Given the description of an element on the screen output the (x, y) to click on. 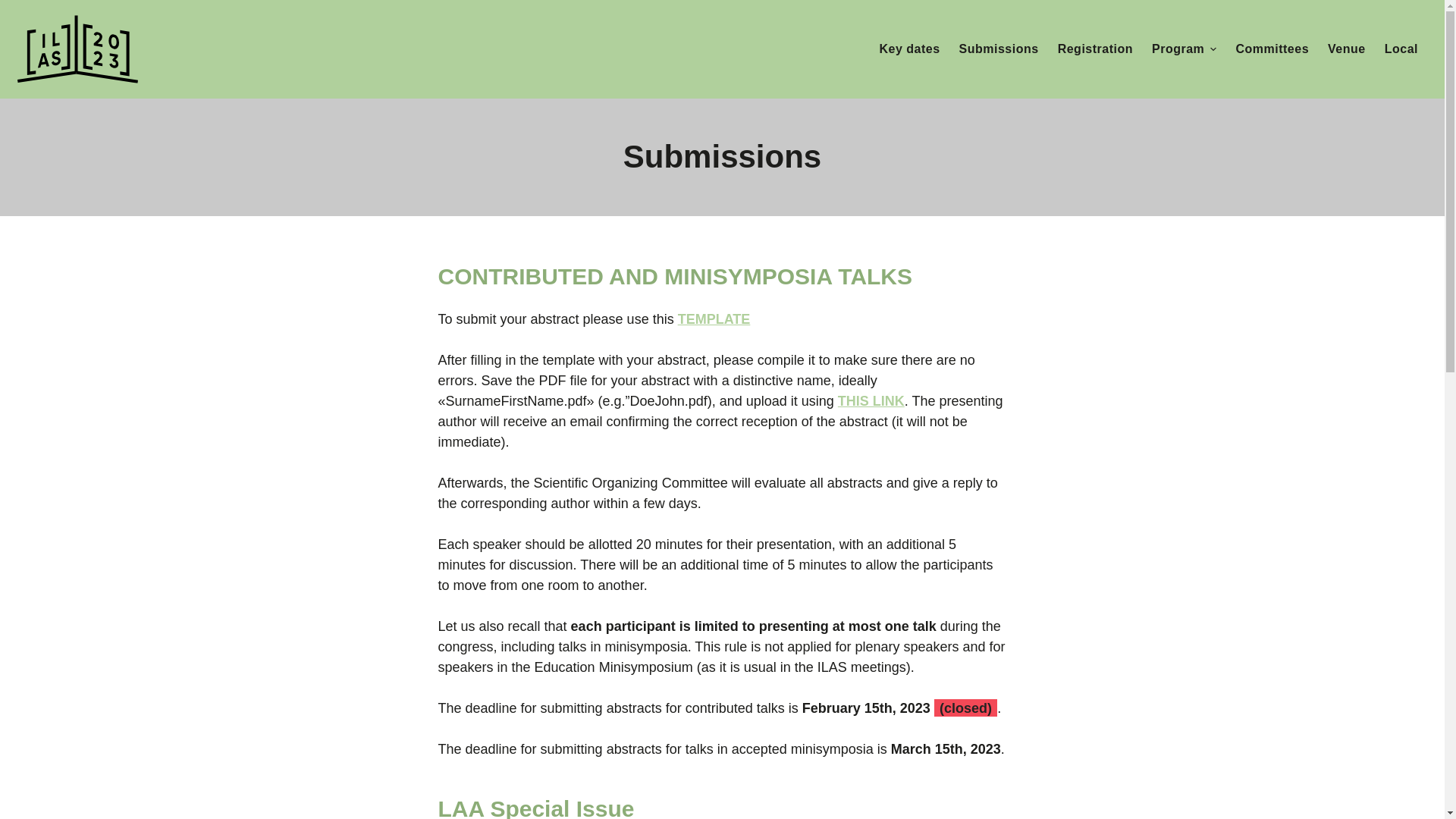
Submissions (722, 157)
TEMPLATE (714, 319)
Committees (1272, 49)
Program (1183, 49)
Key dates (909, 49)
Registration (1094, 49)
Local (1400, 49)
Submissions (998, 49)
THIS LINK (871, 400)
Venue (1347, 49)
Saltar al contenido (15, 7)
